Given the description of an element on the screen output the (x, y) to click on. 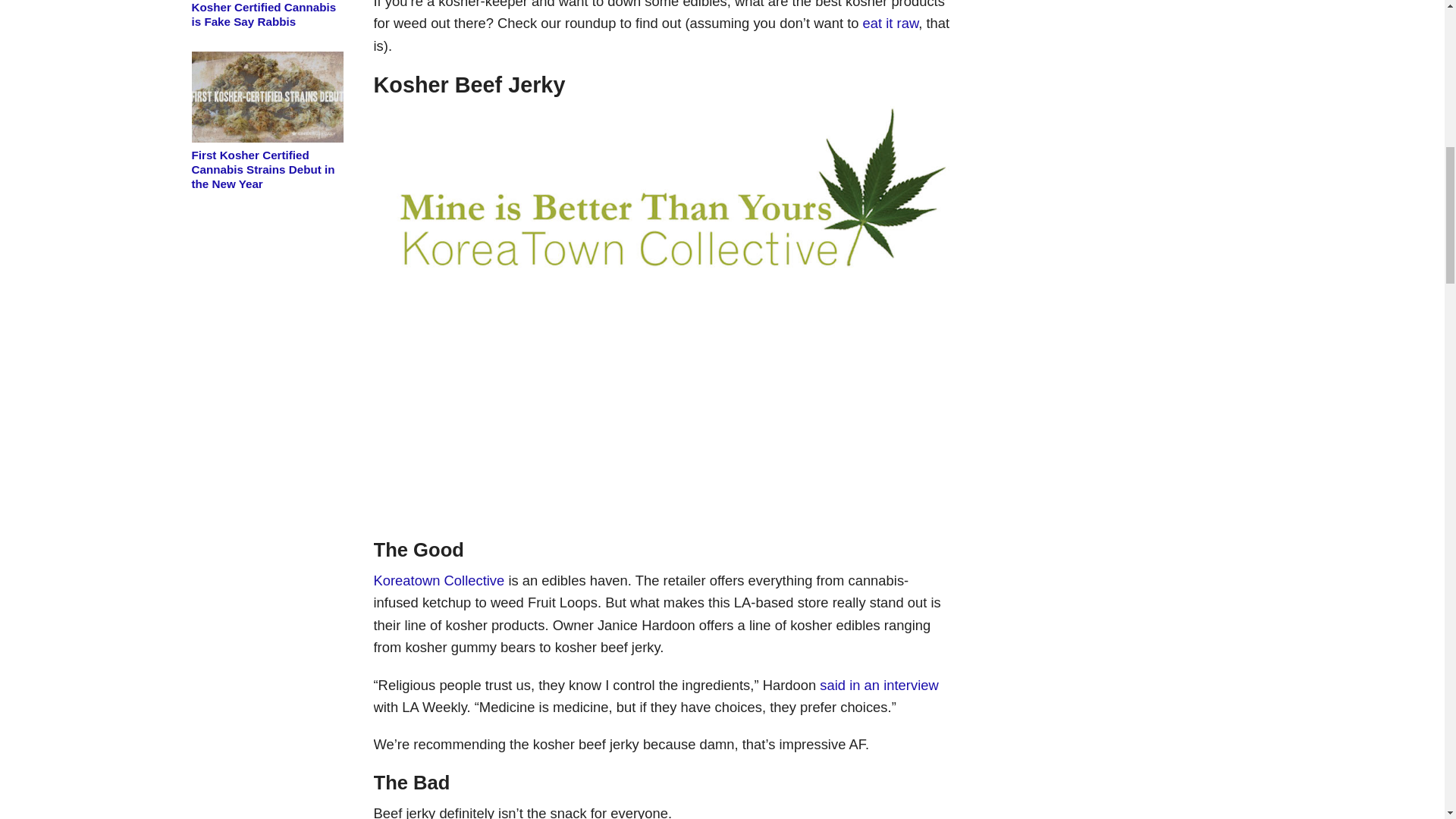
3rd party ad content (660, 435)
